Given the description of an element on the screen output the (x, y) to click on. 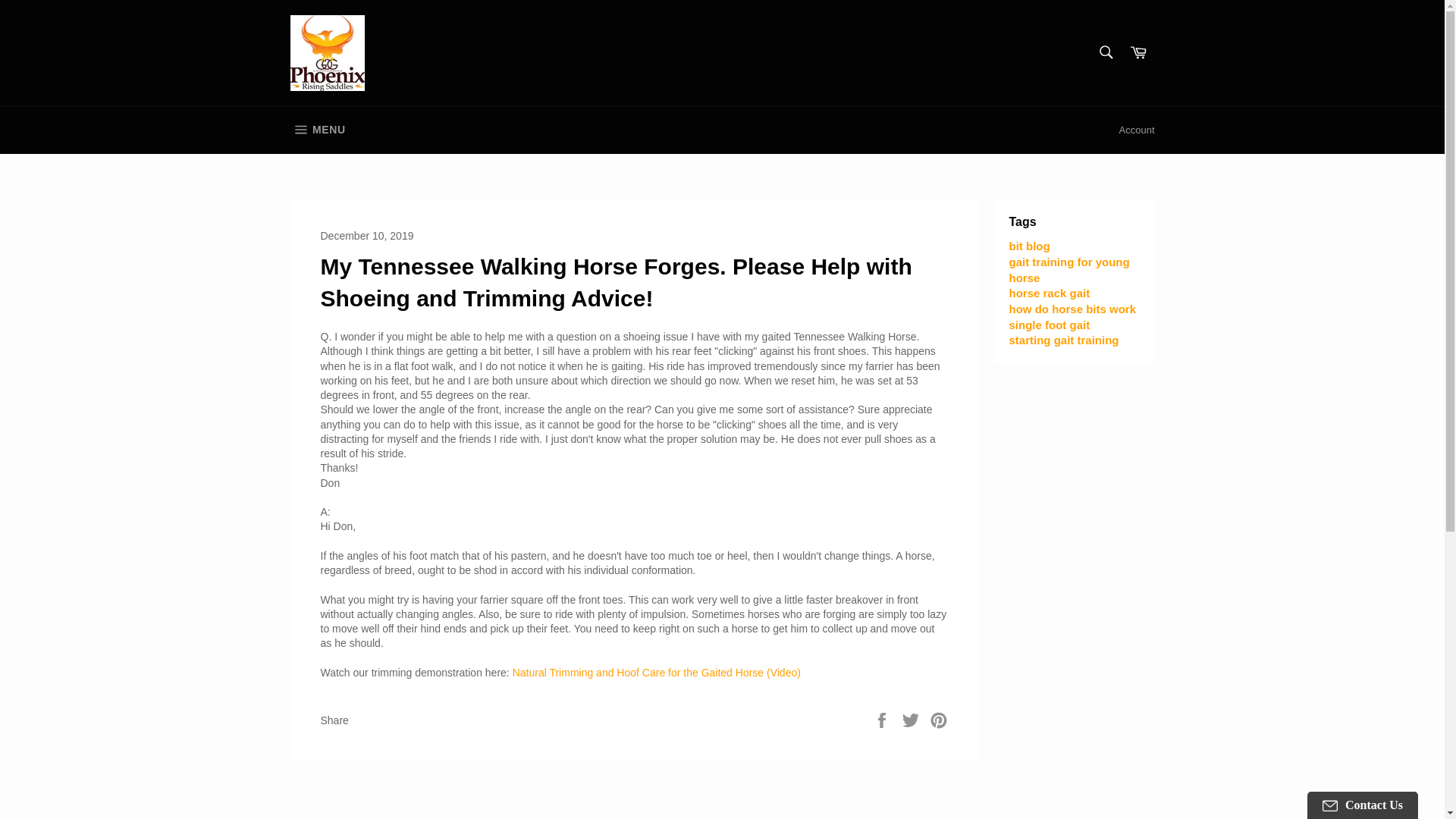
Show articles tagged starting gait training (1063, 339)
Share on Facebook (882, 719)
Show articles tagged single foot gait (1049, 324)
Show articles tagged horse rack gait (1049, 292)
Show articles tagged bit blog (1029, 245)
Show articles tagged how do horse bits work (1072, 308)
Pin on Pinterest (938, 719)
how to shoe and trim my gaited horse that forges (656, 672)
Tweet on Twitter (912, 719)
Show articles tagged gait training for young horse (1069, 269)
